Given the description of an element on the screen output the (x, y) to click on. 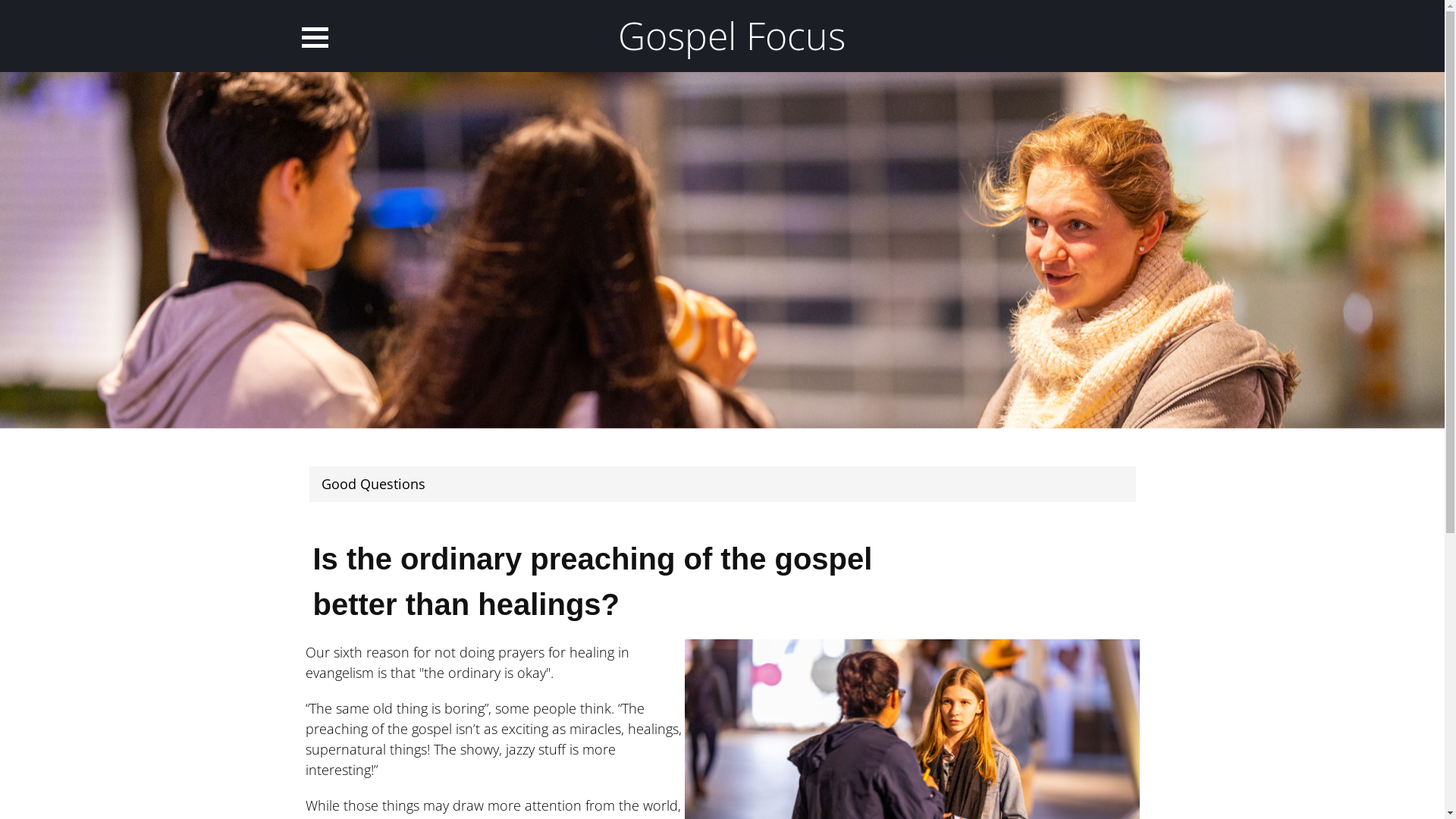
Gospel Focus Element type: text (731, 35)
Good Questions Element type: text (373, 483)
